Given the description of an element on the screen output the (x, y) to click on. 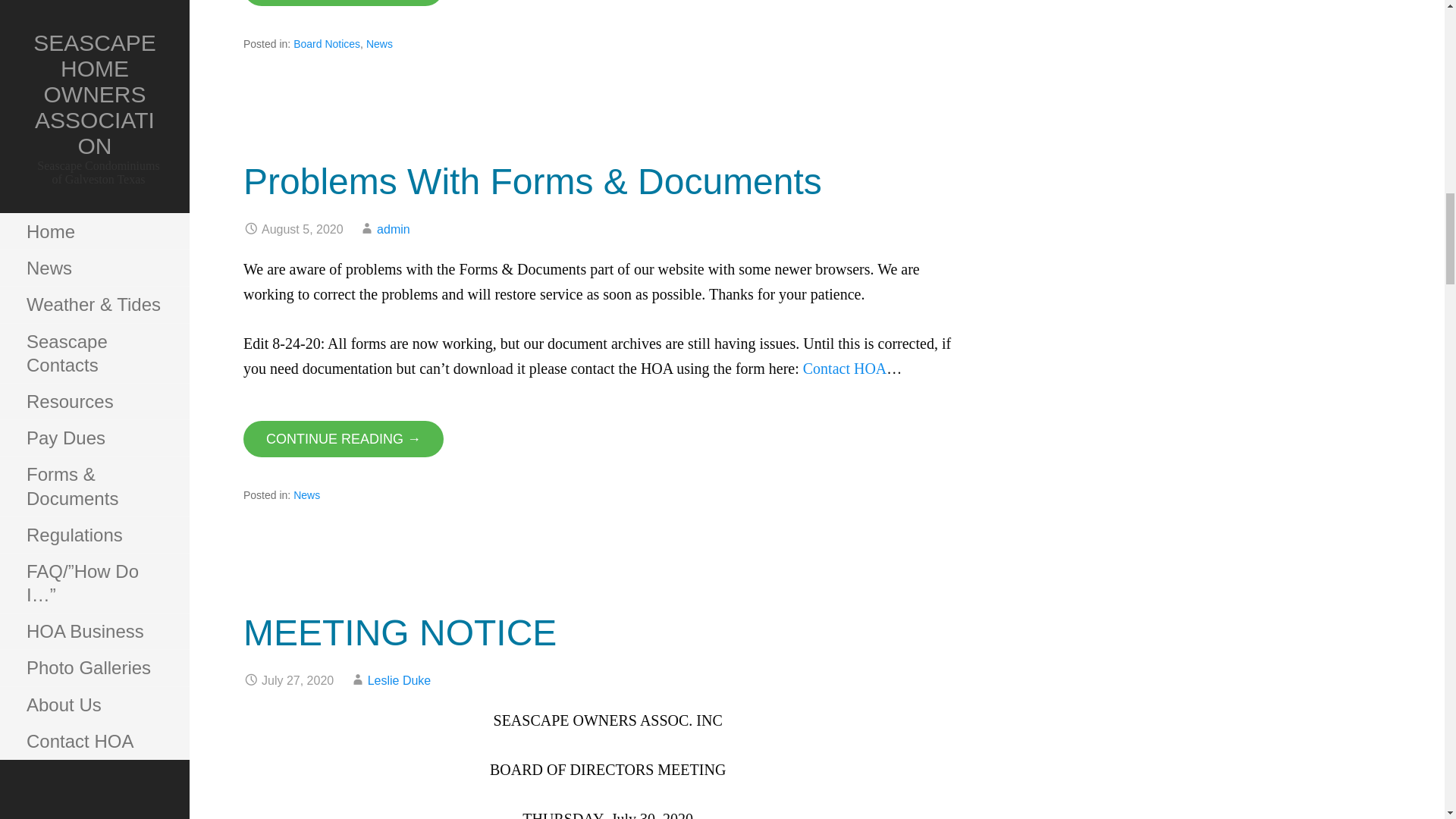
News (379, 43)
MEETING NOTICE (399, 632)
admin (393, 228)
Contact HOA (844, 368)
Leslie Duke (399, 680)
Posts by Leslie Duke (399, 680)
Posts by admin (393, 228)
News (307, 494)
Board Notices (326, 43)
